Given the description of an element on the screen output the (x, y) to click on. 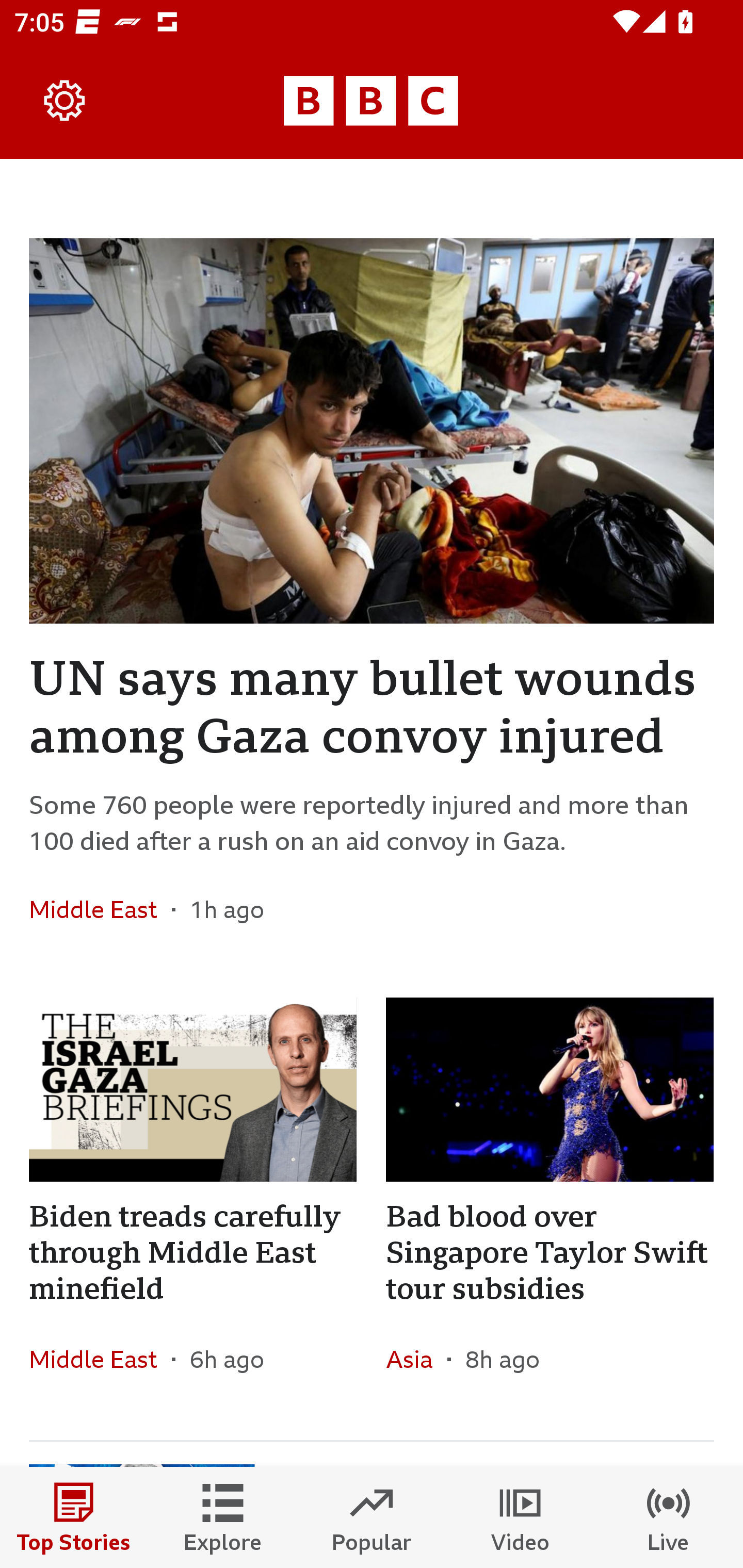
Settings (64, 100)
Middle East In the section Middle East (99, 909)
Middle East In the section Middle East (99, 1359)
Asia In the section Asia (416, 1359)
Explore (222, 1517)
Popular (371, 1517)
Video (519, 1517)
Live (668, 1517)
